Given the description of an element on the screen output the (x, y) to click on. 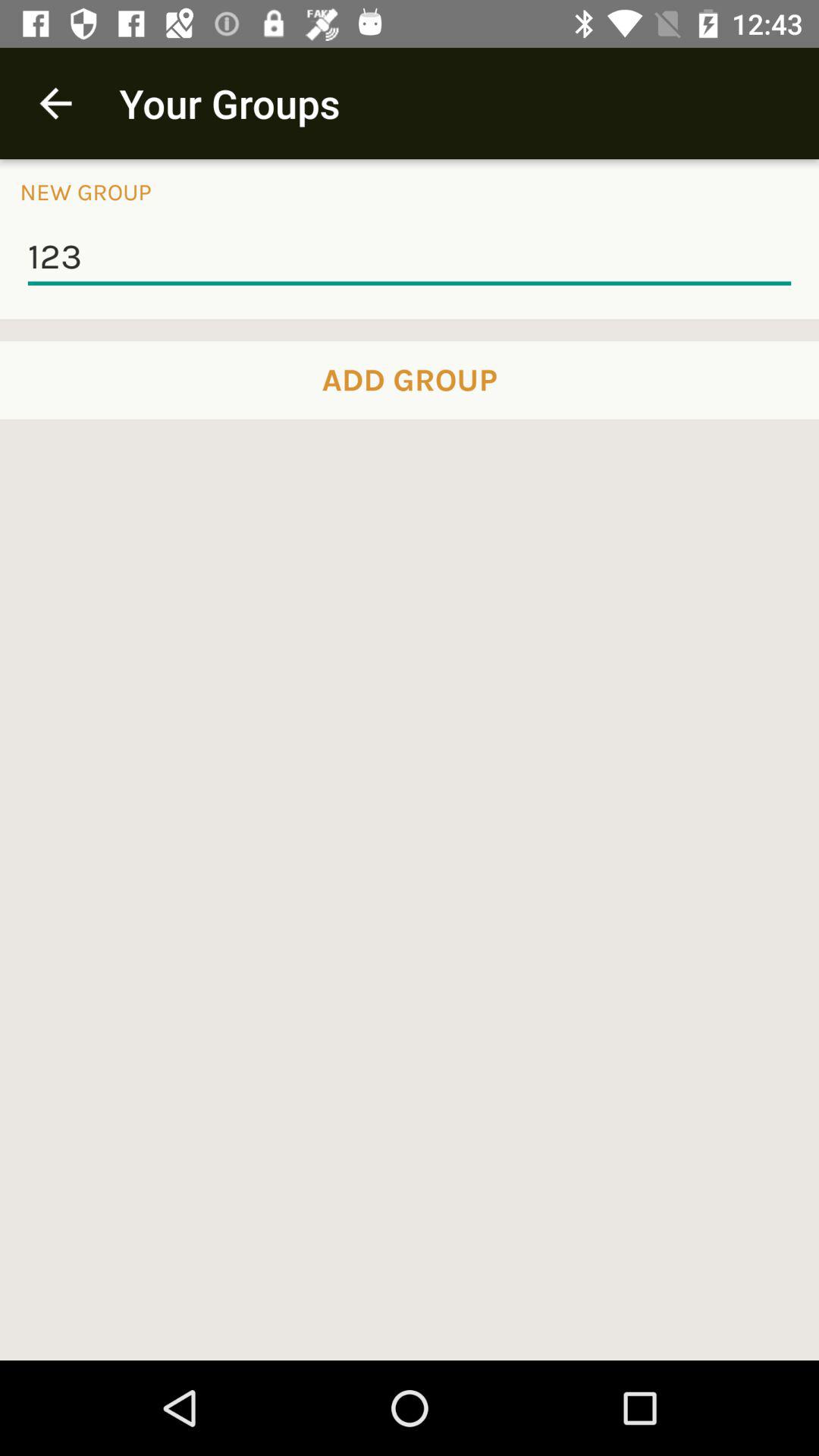
choose icon below new group (409, 257)
